Given the description of an element on the screen output the (x, y) to click on. 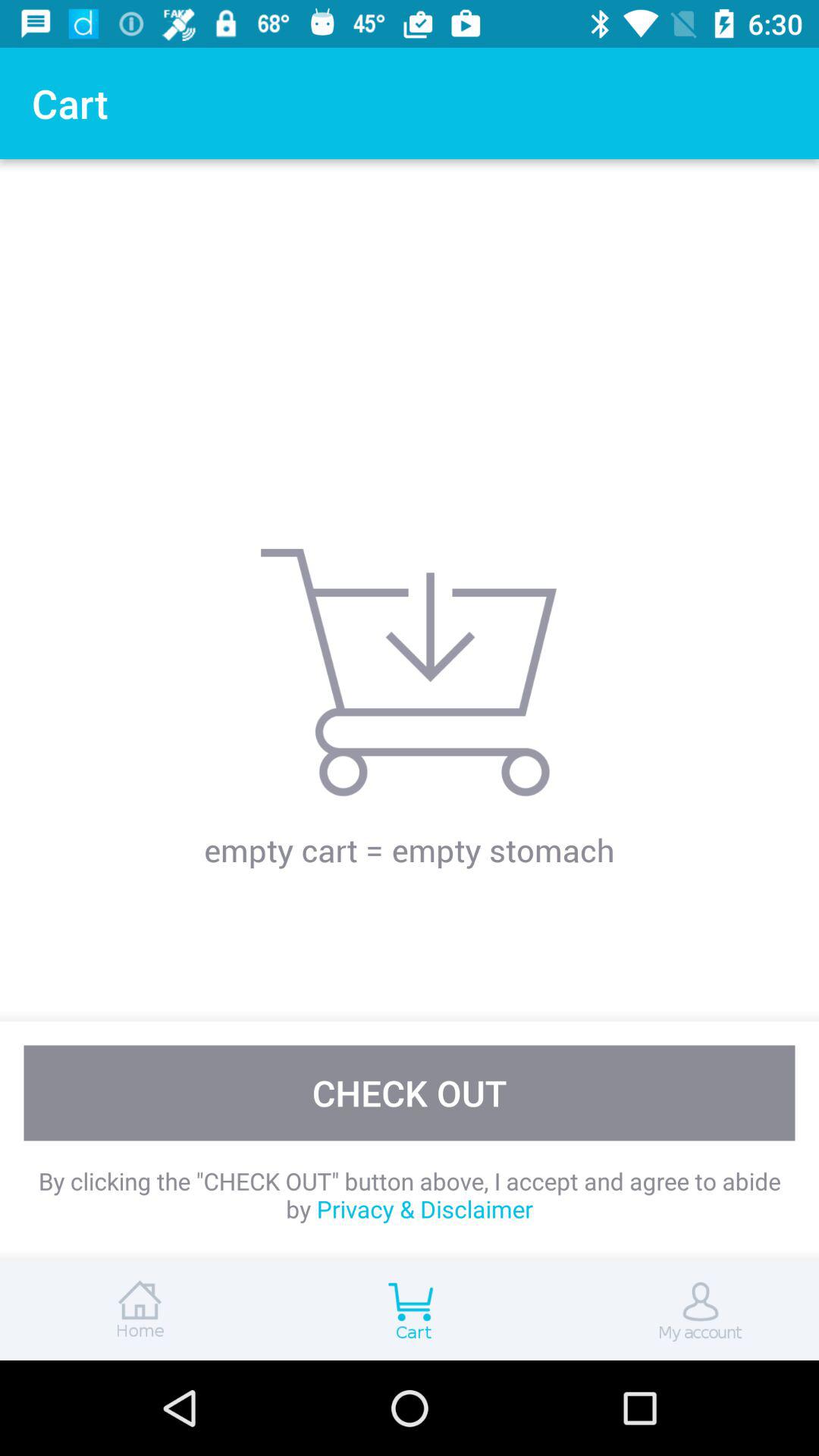
check my cart (409, 1310)
